Given the description of an element on the screen output the (x, y) to click on. 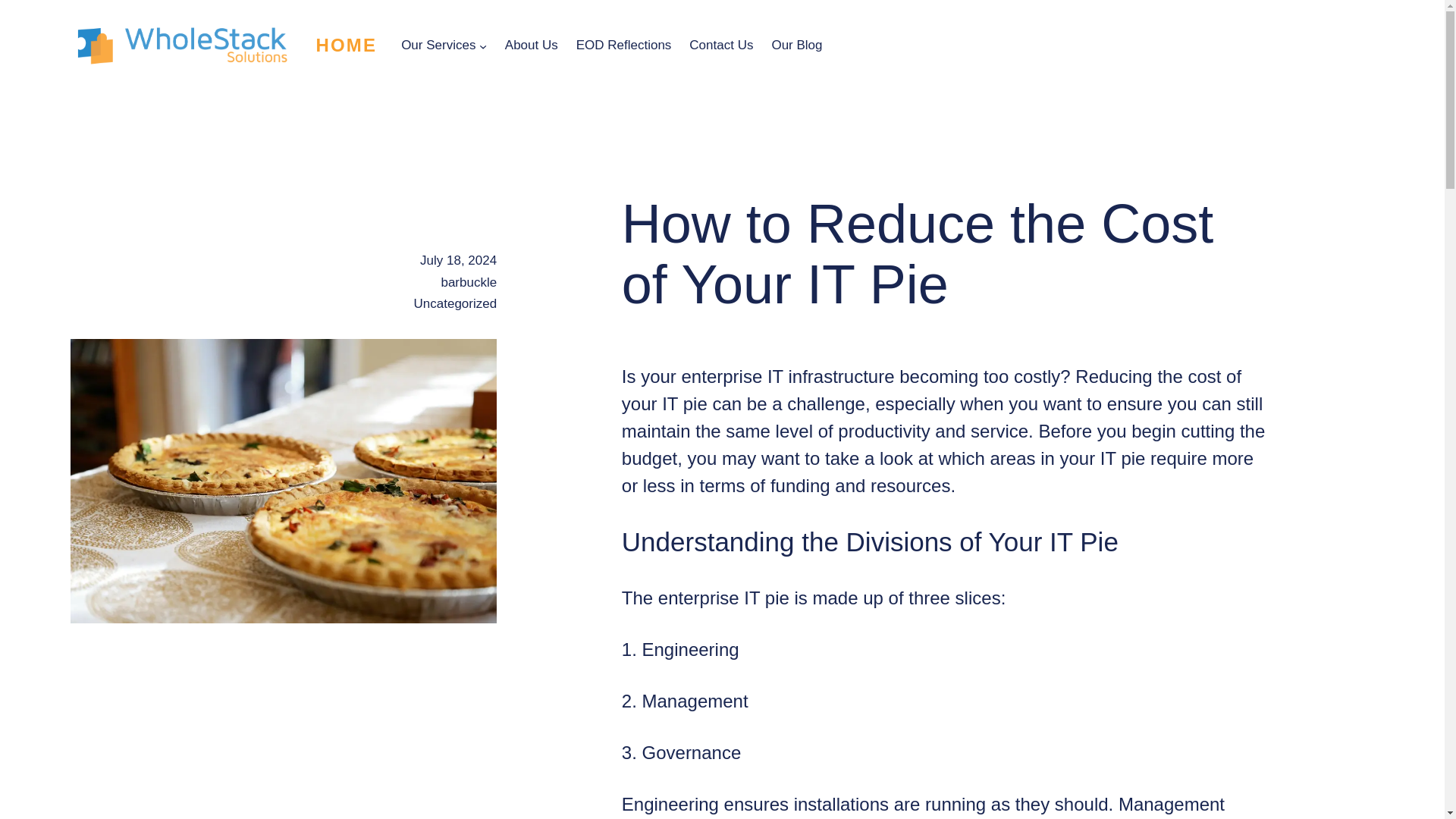
July 18, 2024 (458, 260)
Uncategorized (455, 303)
About Us (531, 45)
EOD Reflections (623, 45)
HOME (346, 45)
Our Blog (796, 45)
Our Services (438, 45)
Contact Us (720, 45)
